Given the description of an element on the screen output the (x, y) to click on. 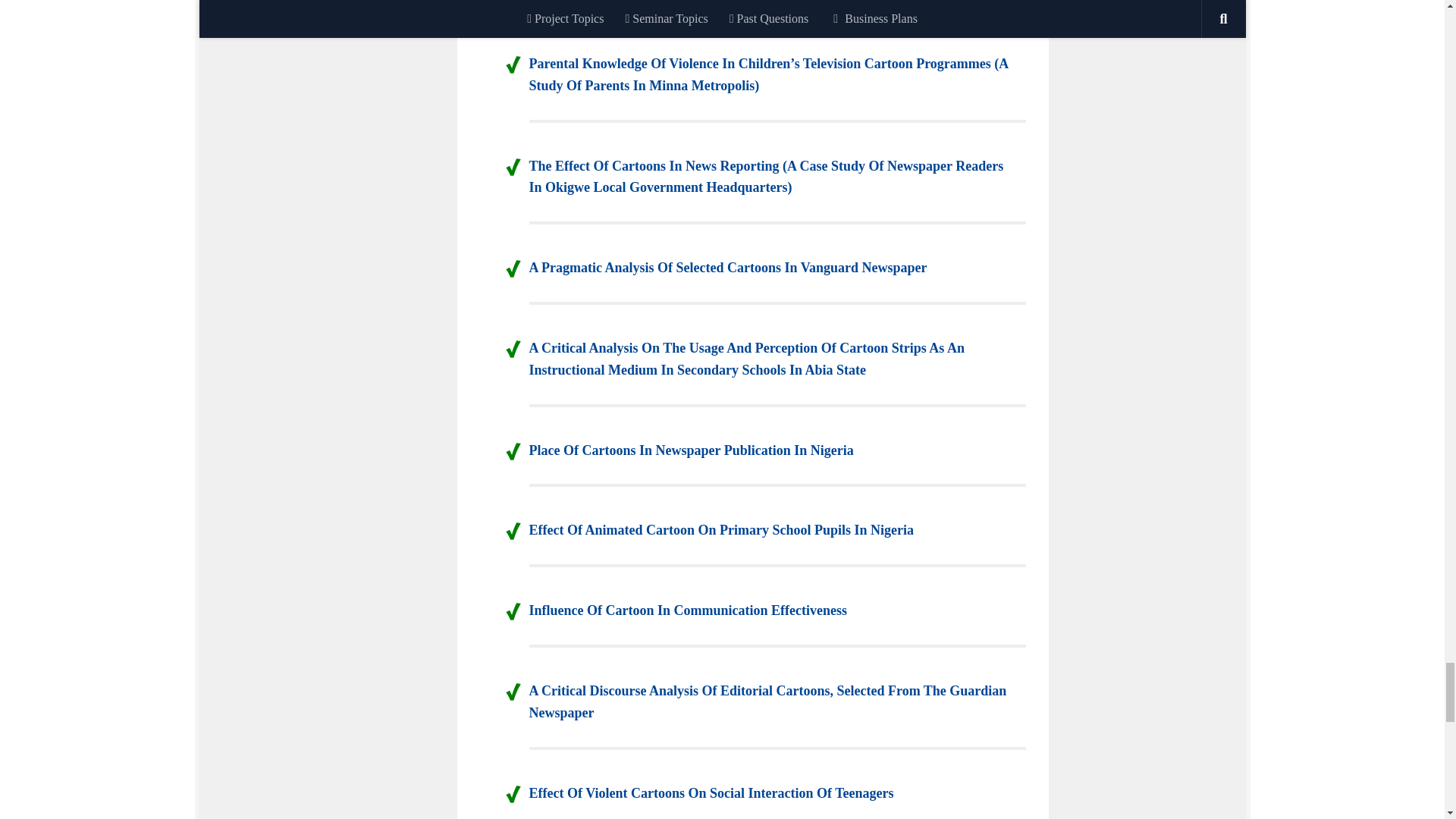
Place Of Cartoons In Newspaper Publication In Nigeria (691, 450)
